Given the description of an element on the screen output the (x, y) to click on. 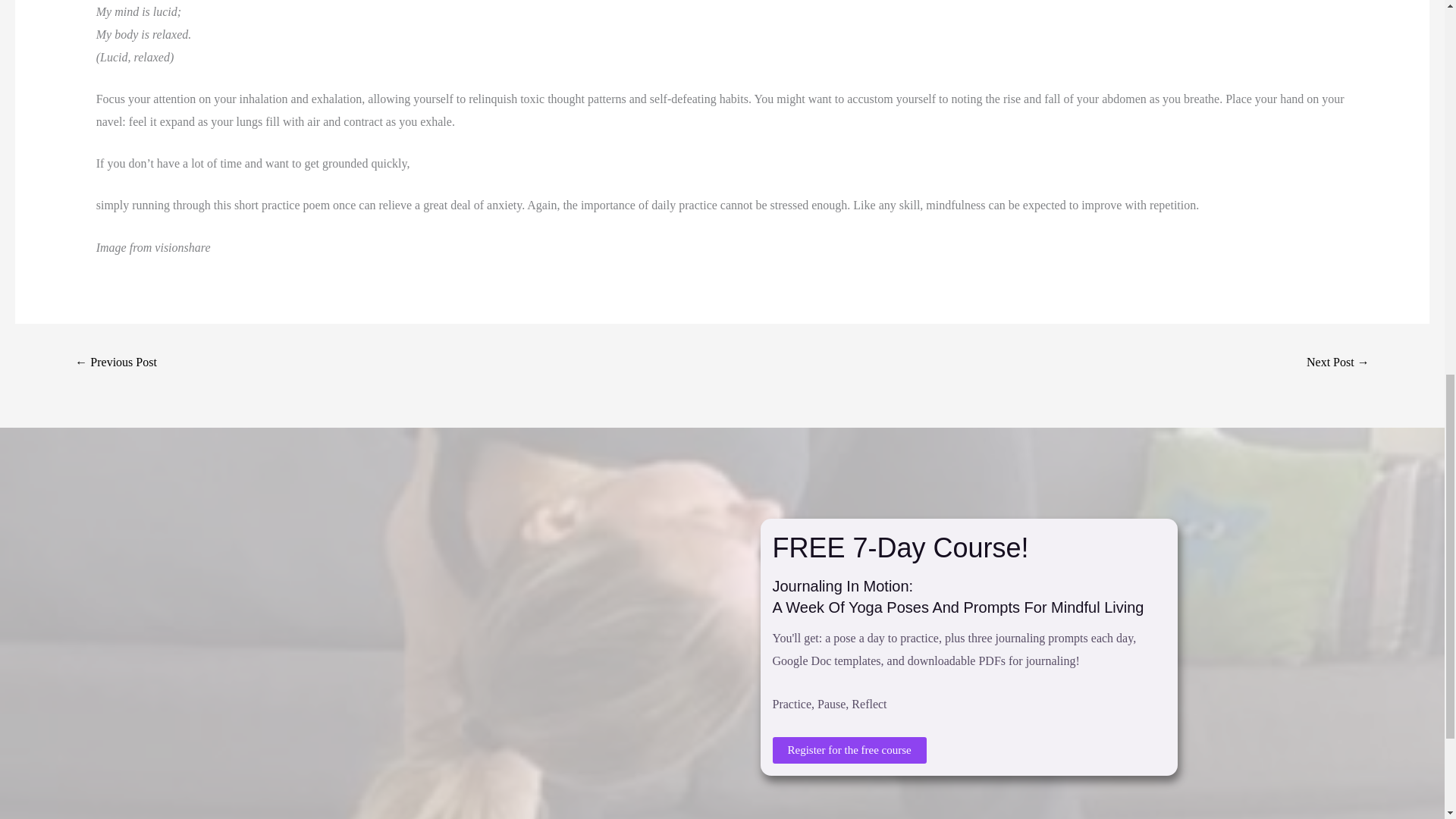
Register for the free course (848, 750)
Radical Renewal (1337, 363)
A Transformative Practice (115, 363)
